Given the description of an element on the screen output the (x, y) to click on. 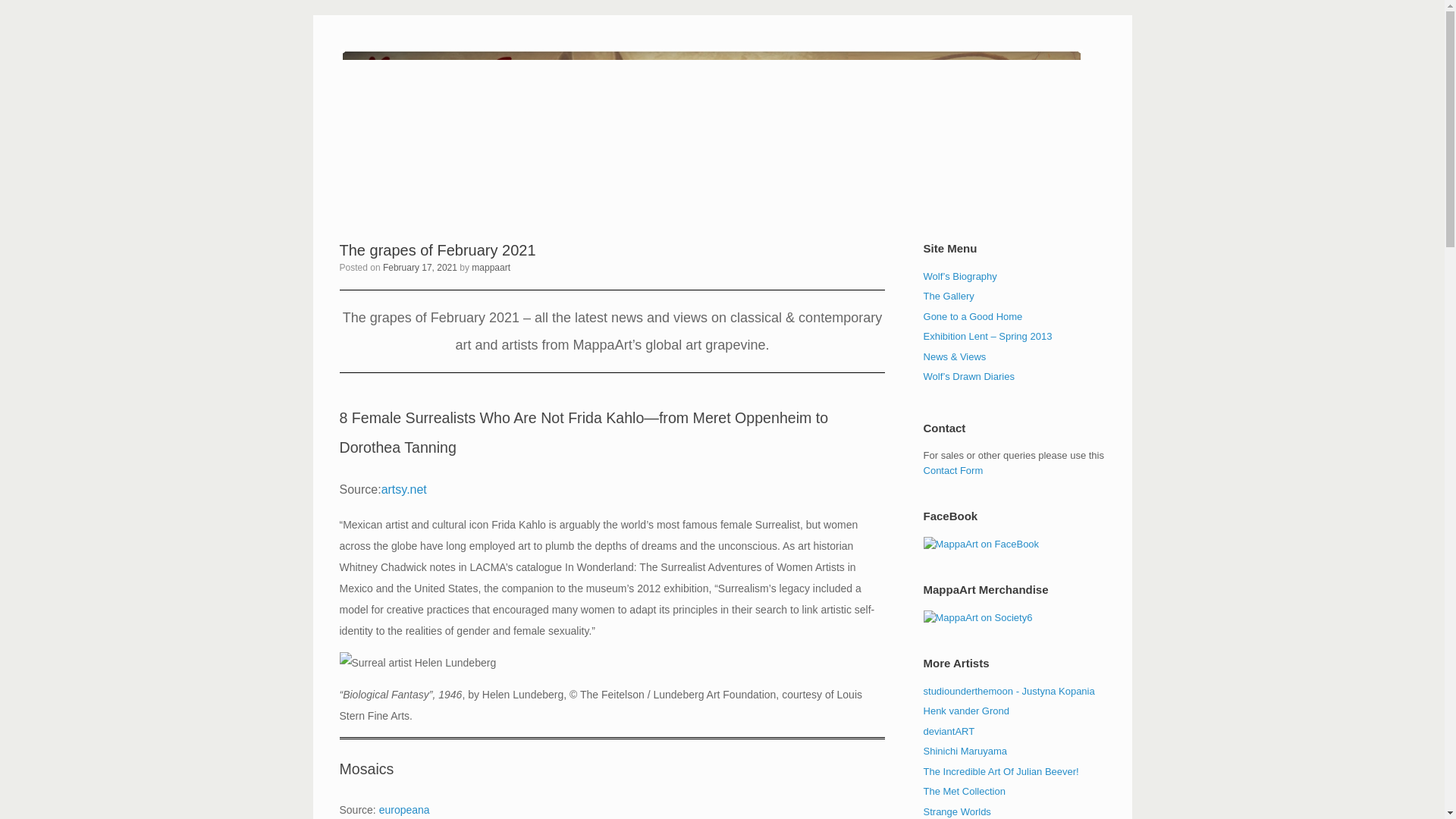
The Met Collection (964, 790)
studiounderthemoon - Justyna Kopania (1008, 690)
View all posts by mappaart (491, 267)
Gone to a Good Home (973, 316)
europeana (403, 809)
mappaart (491, 267)
The Incredible Art Of Julian Beever! (1000, 771)
The Gallery (948, 296)
artsy.net (403, 489)
